Given the description of an element on the screen output the (x, y) to click on. 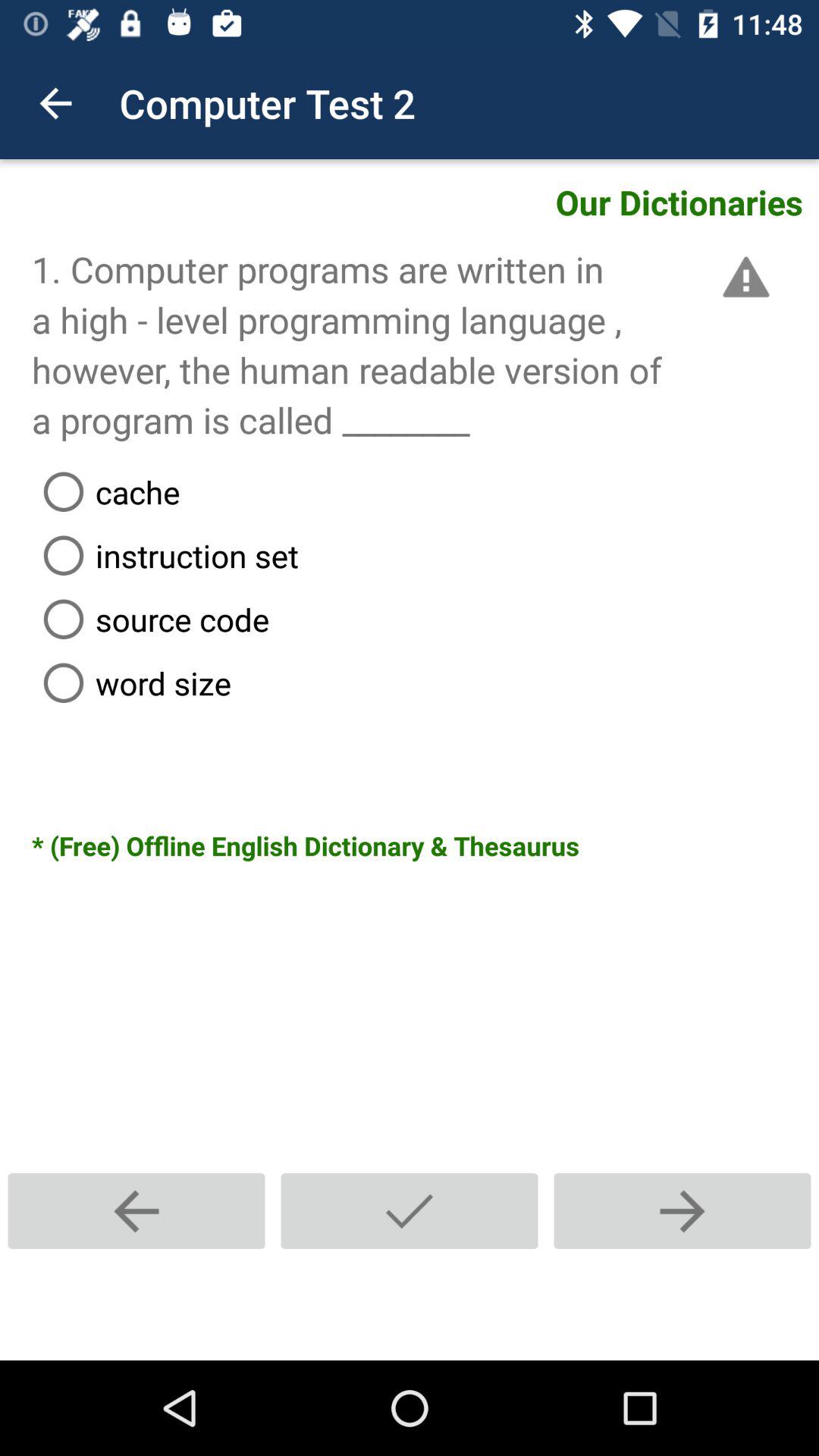
choose the item above the free offline english icon (425, 682)
